Given the description of an element on the screen output the (x, y) to click on. 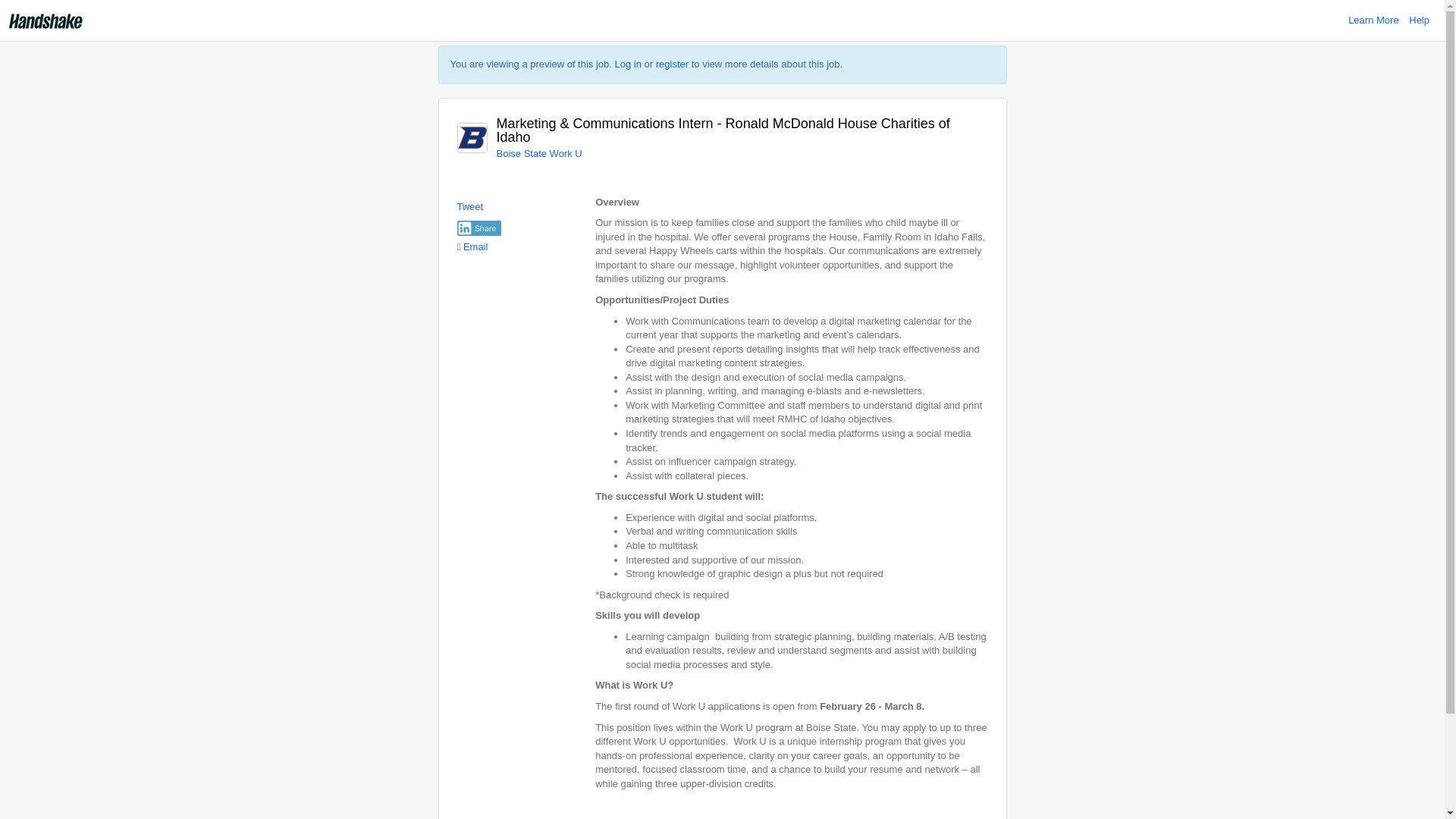
Tweet (470, 206)
Share by Email (472, 246)
Help (1419, 19)
Boise State Work U (538, 153)
register (672, 63)
Share (478, 227)
Log in (628, 63)
Learn More (1372, 19)
Email (472, 246)
